Given the description of an element on the screen output the (x, y) to click on. 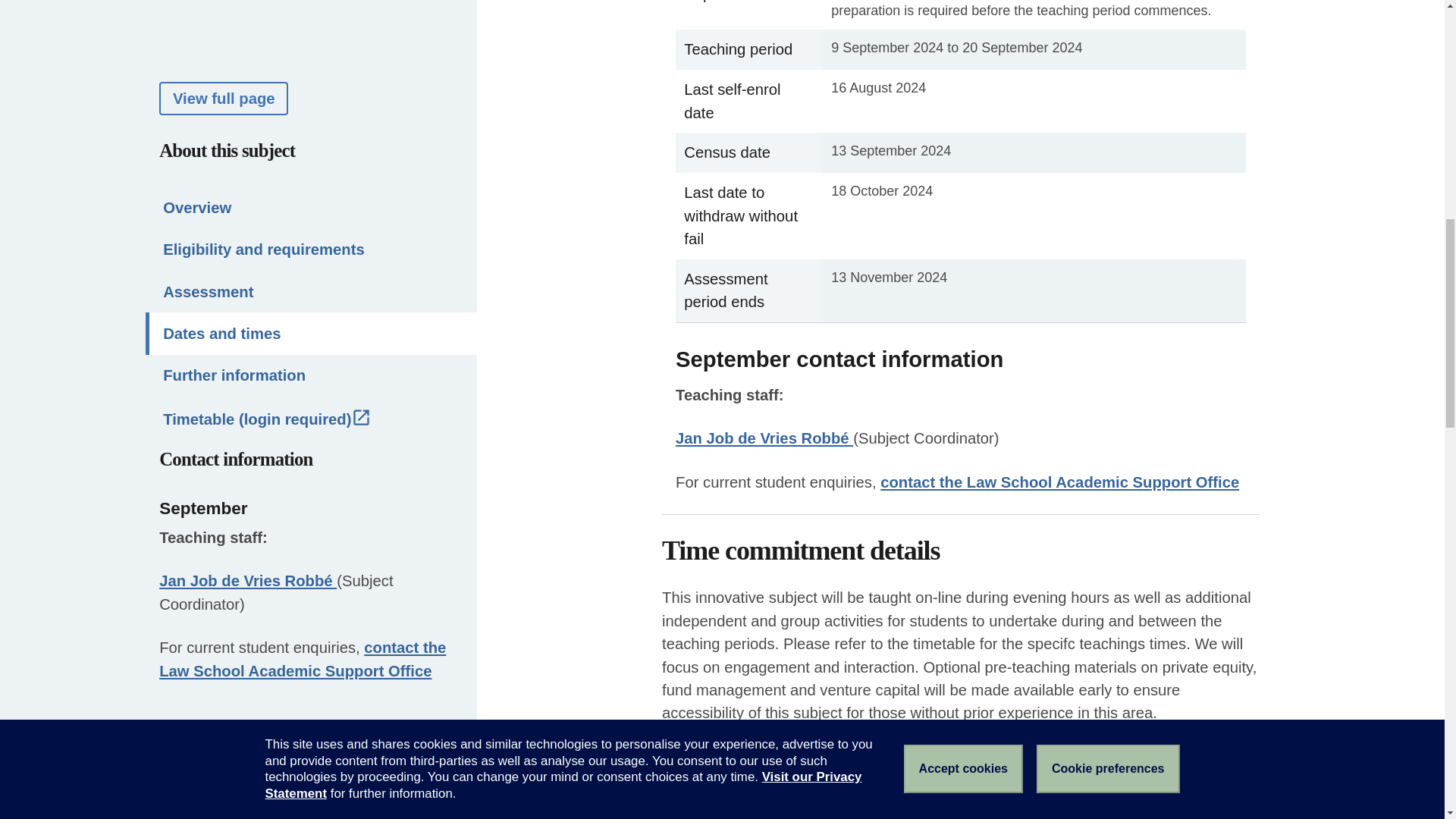
contact the Law School Academic Support Office (1059, 482)
contact the Law School Academic Support Office (301, 96)
this webpage (743, 807)
this webpage (743, 807)
